Given the description of an element on the screen output the (x, y) to click on. 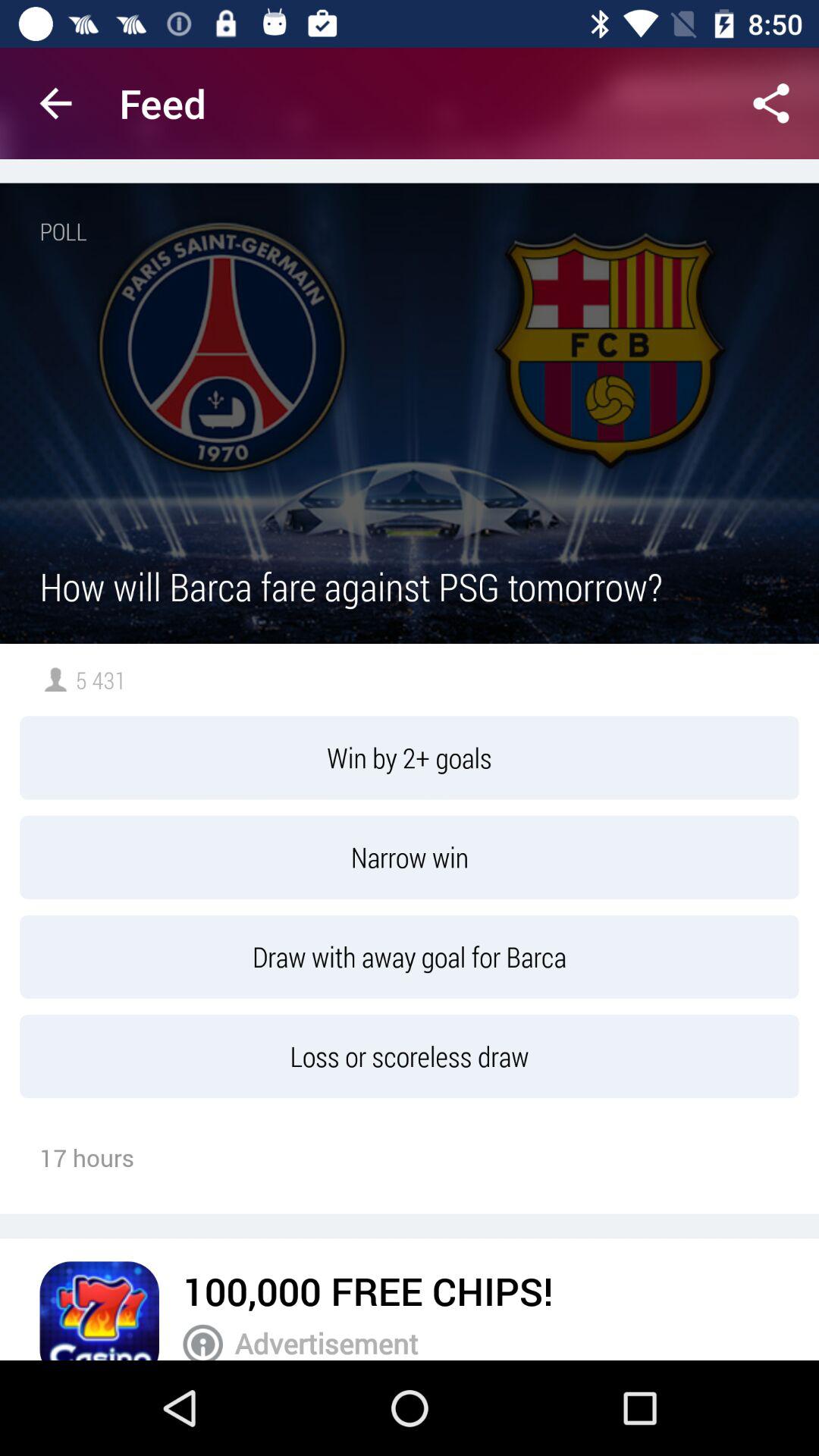
link to download a casino app (99, 1310)
